Given the description of an element on the screen output the (x, y) to click on. 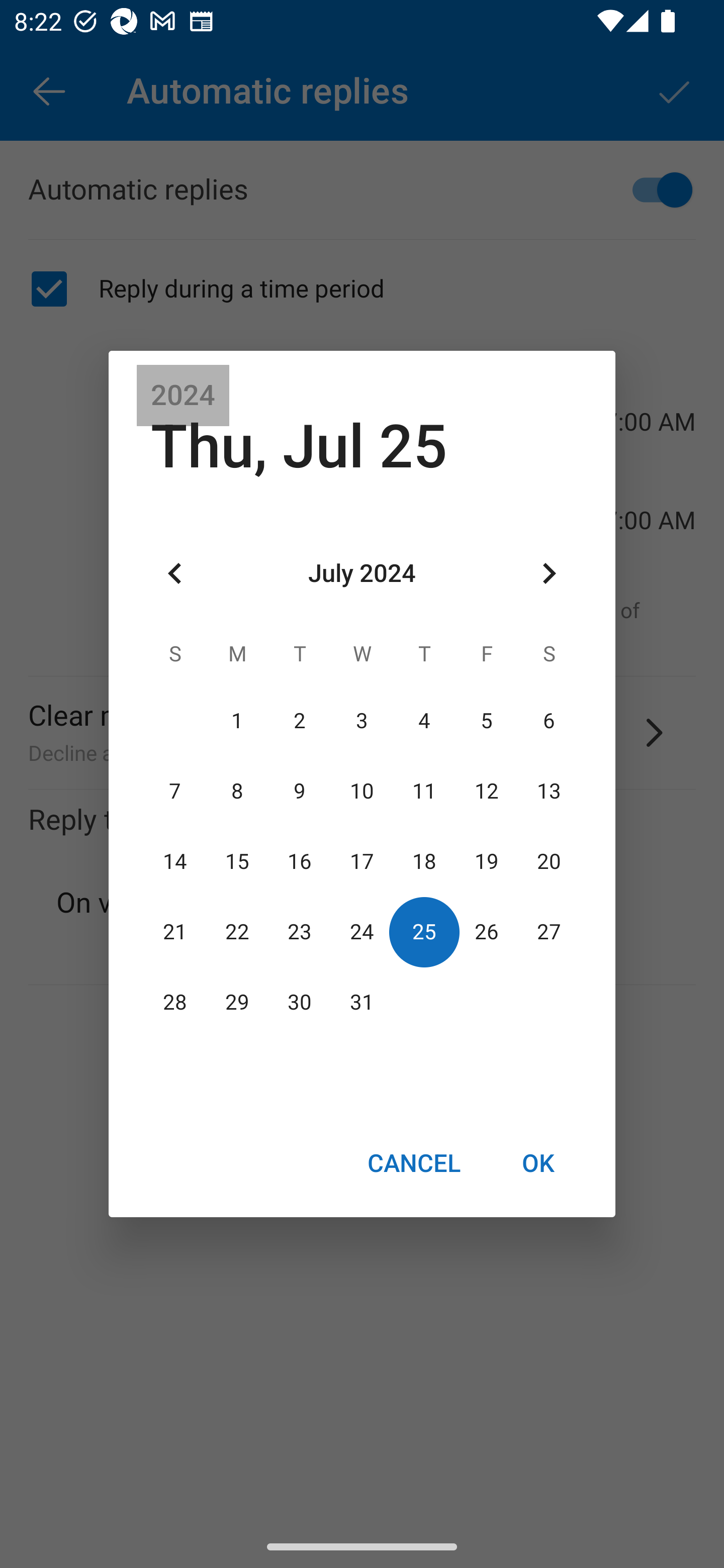
2024 (182, 395)
Thu, Jul 25 (298, 446)
Previous month (174, 573)
Next month (548, 573)
1 01 July 2024 (237, 720)
2 02 July 2024 (299, 720)
3 03 July 2024 (361, 720)
4 04 July 2024 (424, 720)
5 05 July 2024 (486, 720)
6 06 July 2024 (548, 720)
7 07 July 2024 (175, 790)
8 08 July 2024 (237, 790)
9 09 July 2024 (299, 790)
10 10 July 2024 (361, 790)
11 11 July 2024 (424, 790)
12 12 July 2024 (486, 790)
13 13 July 2024 (548, 790)
14 14 July 2024 (175, 861)
15 15 July 2024 (237, 861)
16 16 July 2024 (299, 861)
17 17 July 2024 (361, 861)
18 18 July 2024 (424, 861)
19 19 July 2024 (486, 861)
20 20 July 2024 (548, 861)
21 21 July 2024 (175, 931)
22 22 July 2024 (237, 931)
23 23 July 2024 (299, 931)
24 24 July 2024 (361, 931)
25 25 July 2024 (424, 931)
26 26 July 2024 (486, 931)
27 27 July 2024 (548, 931)
28 28 July 2024 (175, 1002)
29 29 July 2024 (237, 1002)
30 30 July 2024 (299, 1002)
31 31 July 2024 (361, 1002)
CANCEL (413, 1162)
OK (537, 1162)
